Given the description of an element on the screen output the (x, y) to click on. 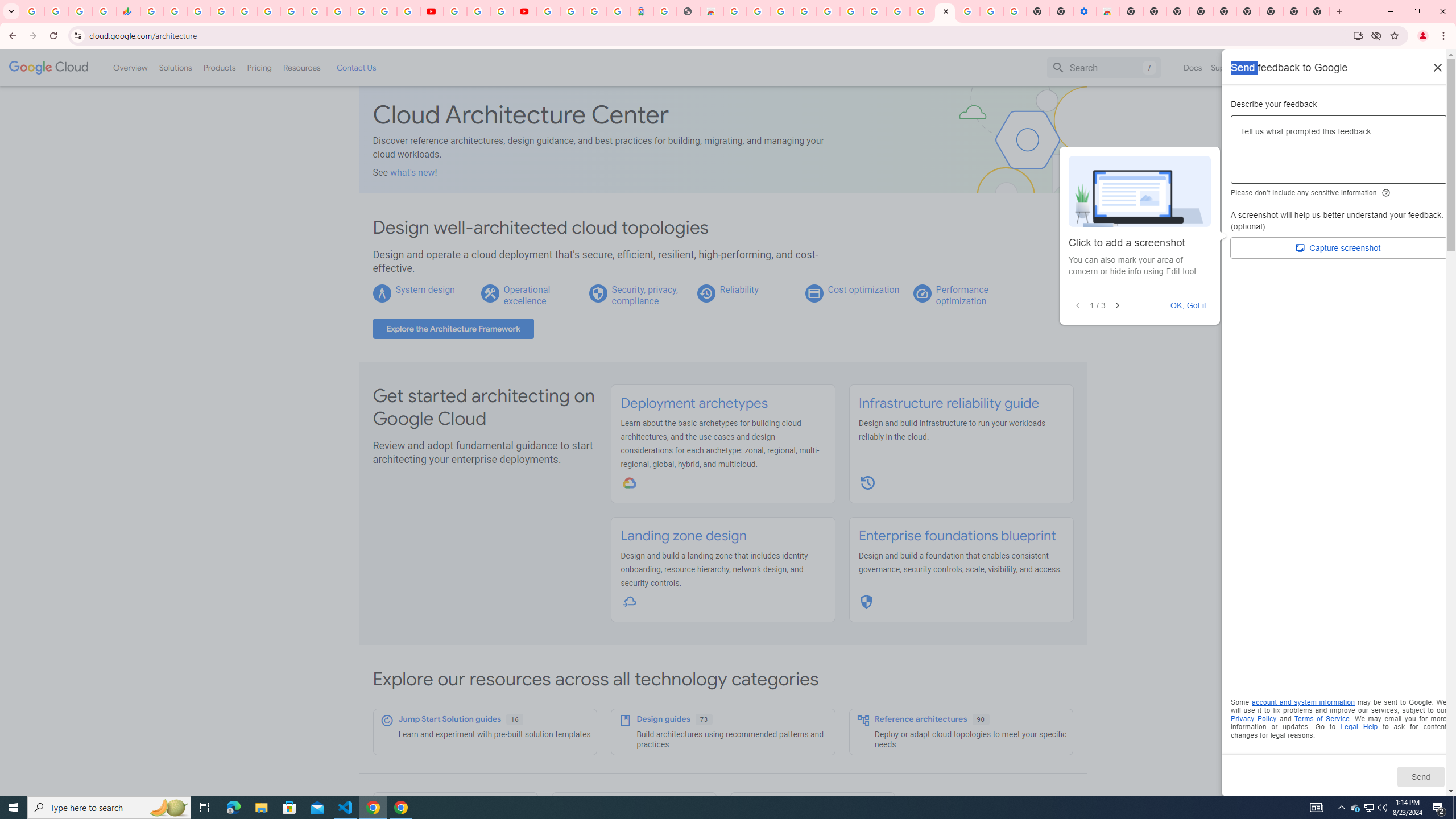
YouTube (314, 11)
Browse the Google Chrome Community - Google Chrome Community (921, 11)
Deployment archetypes (694, 402)
Turn cookies on or off - Computer - Google Account Help (1015, 11)
Enterprise foundations blueprint (956, 535)
Android TV Policies and Guidelines - Transparency Center (291, 11)
Previous (1078, 305)
Opens in a new tab. Terms of Service (1321, 718)
Capture screenshot (1338, 247)
